Given the description of an element on the screen output the (x, y) to click on. 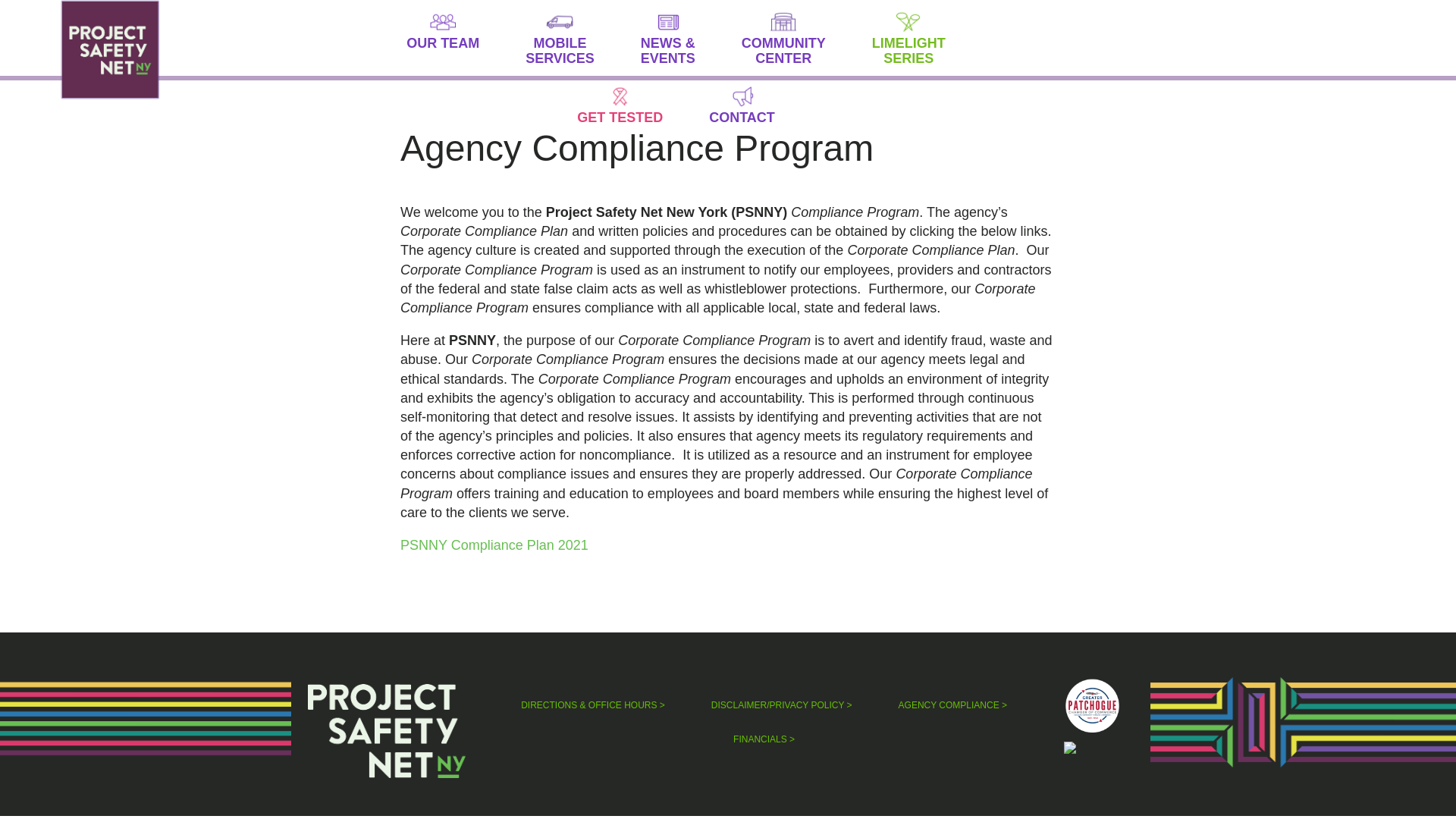
PSNNY Compliance Plan 2021 (494, 544)
OUR TEAM (756, 111)
